Given the description of an element on the screen output the (x, y) to click on. 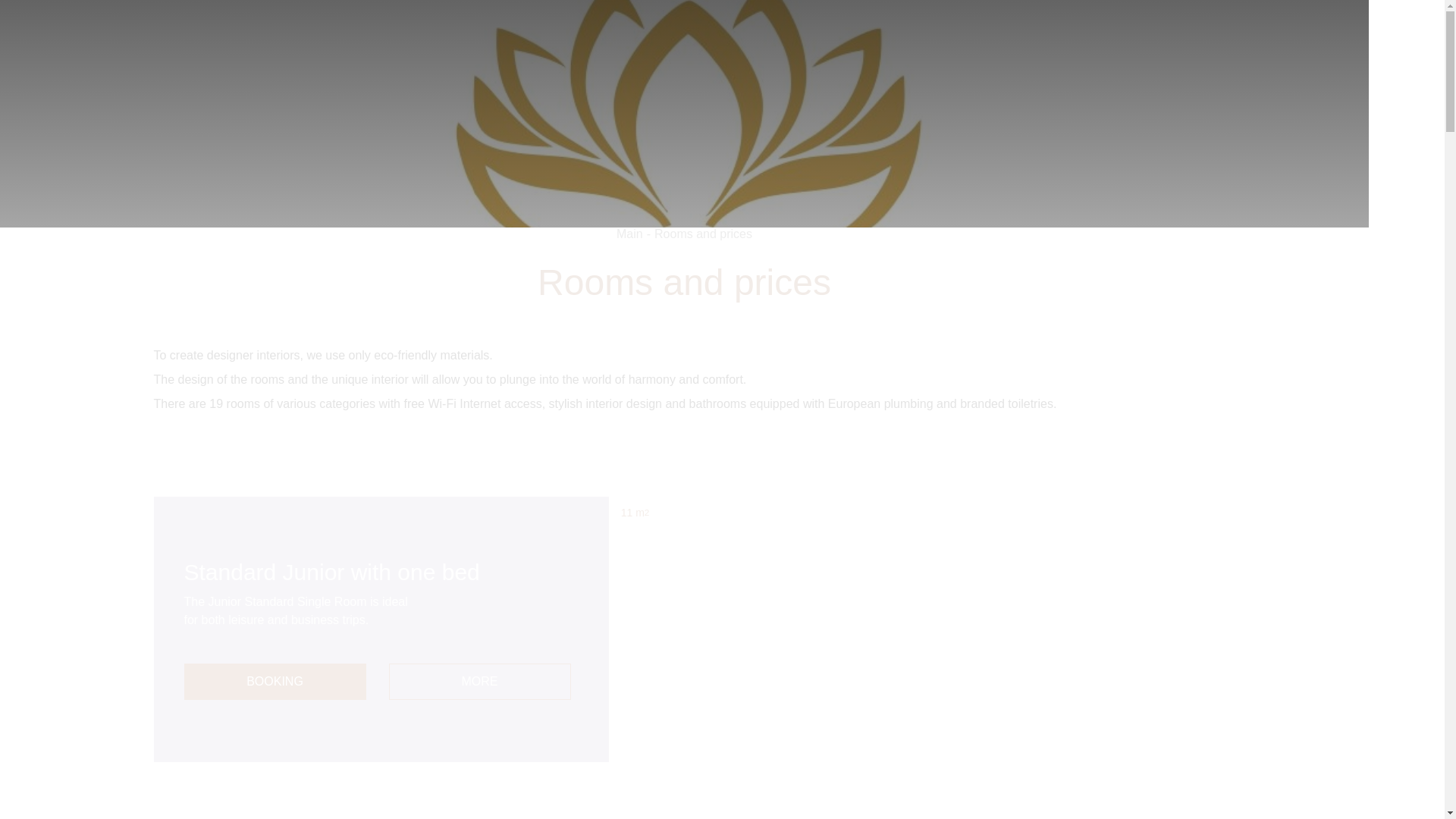
MORE (479, 681)
Main (629, 233)
Main (629, 233)
Standard Junior with one bed (380, 571)
BOOKING (274, 681)
